Given the description of an element on the screen output the (x, y) to click on. 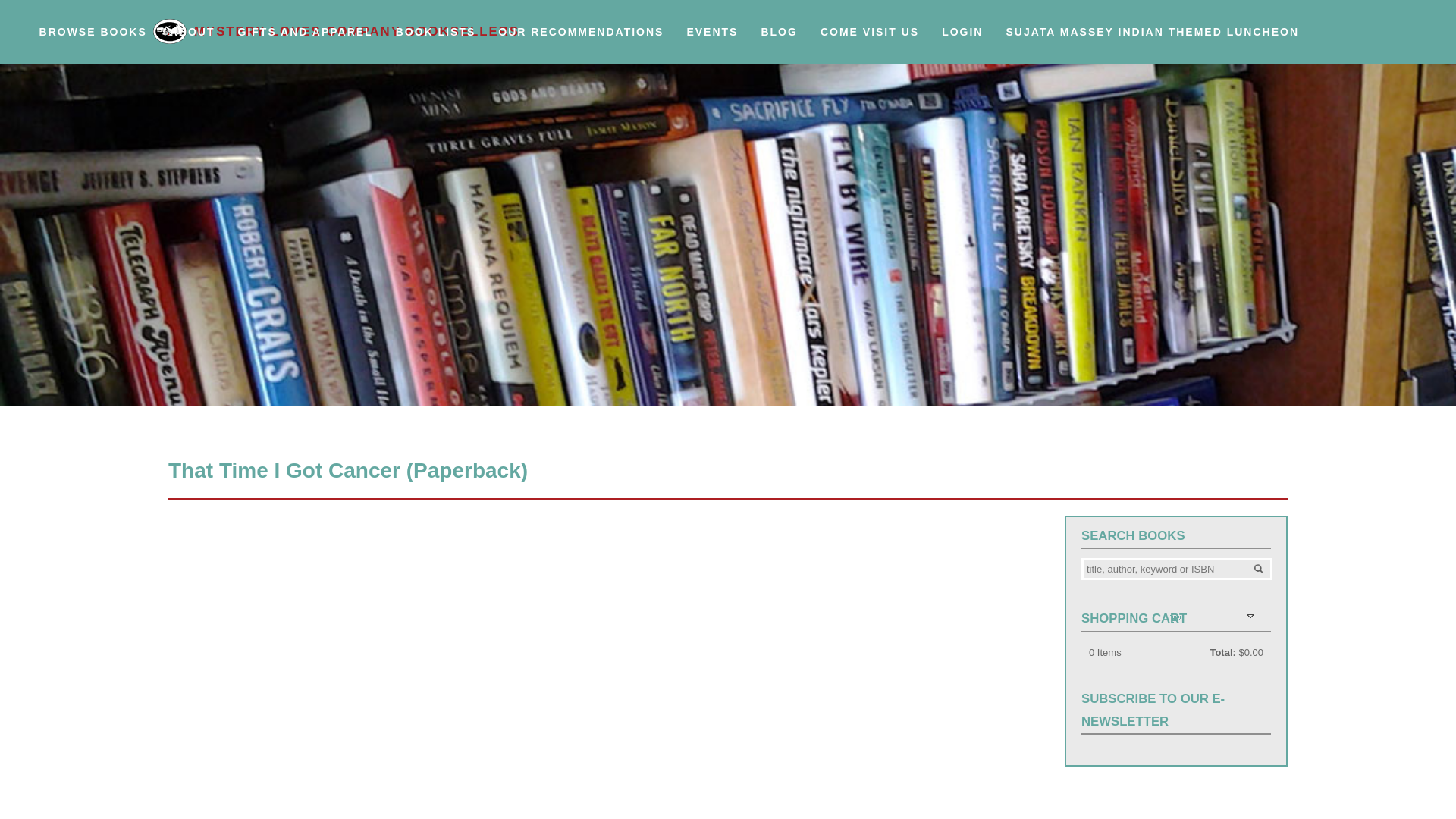
View your shopping cart. (1174, 617)
COME VISIT US (869, 41)
SUJATA MASSEY INDIAN THEMED LUNCHEON (1152, 41)
BOOK LISTS (435, 41)
LOGIN (962, 41)
ABOUT (192, 41)
Enter the terms you wish to search for. (1176, 568)
Search (1259, 567)
EVENTS (712, 41)
GIFTS AND APPAREL (305, 41)
